Given the description of an element on the screen output the (x, y) to click on. 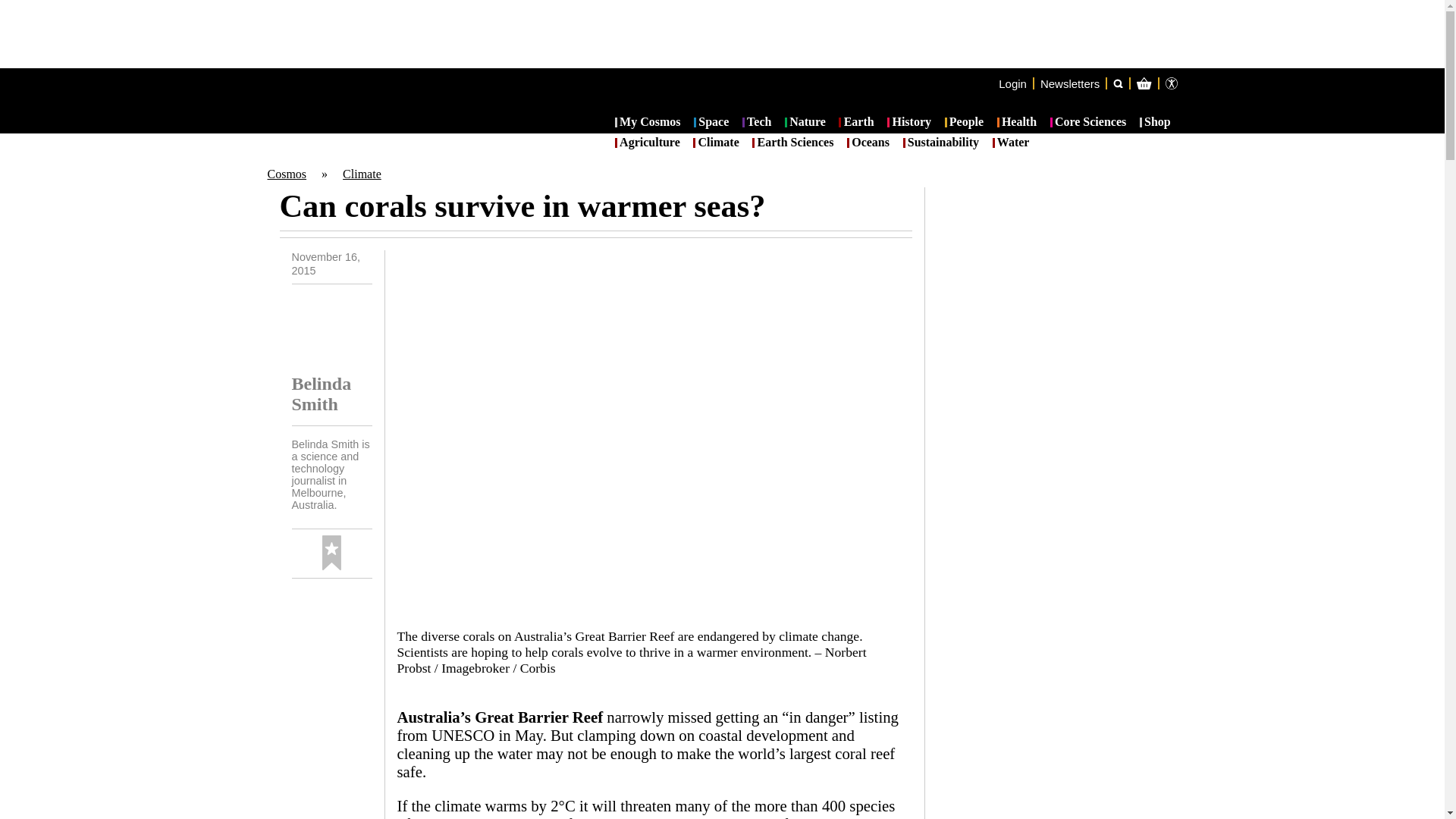
Climate (361, 173)
Cosmos (285, 173)
Core Sciences (1087, 122)
History (908, 122)
Newsletters (1070, 82)
Login (1012, 82)
Accessibility Tools (1170, 82)
Health (1016, 122)
People (964, 122)
